Given the description of an element on the screen output the (x, y) to click on. 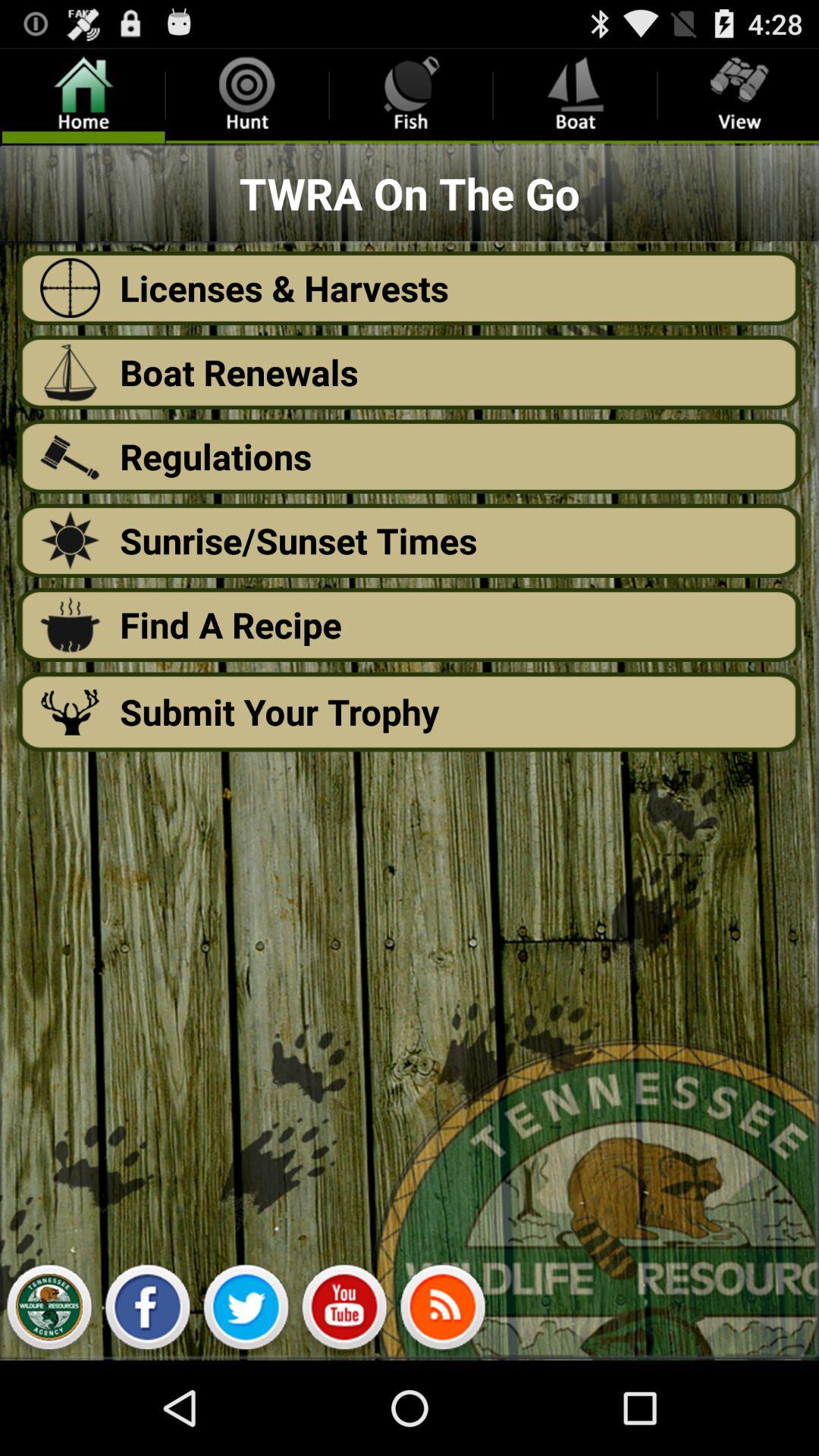
wi-fi (442, 1311)
